Given the description of an element on the screen output the (x, y) to click on. 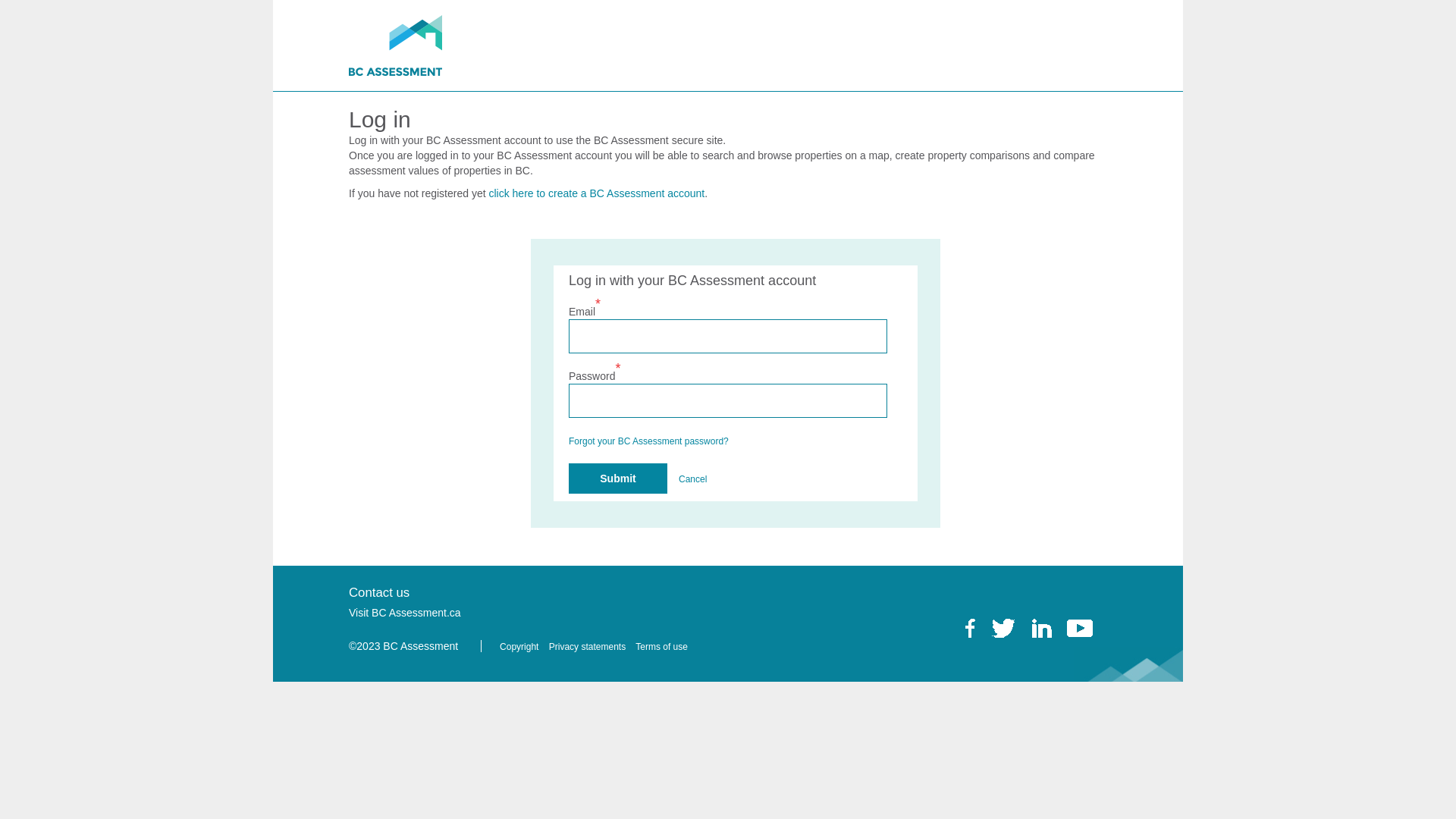
Visit BC Assessment.ca Element type: text (408, 612)
Terms of use Element type: text (665, 646)
Cancel Element type: text (692, 478)
Copyright Element type: text (522, 646)
Submit Element type: text (617, 478)
Privacy statements Element type: text (591, 646)
click here to create a BC Assessment account Element type: text (596, 193)
Contact us Element type: text (382, 592)
Forgot your BC Assessment password? Element type: text (648, 441)
